Given the description of an element on the screen output the (x, y) to click on. 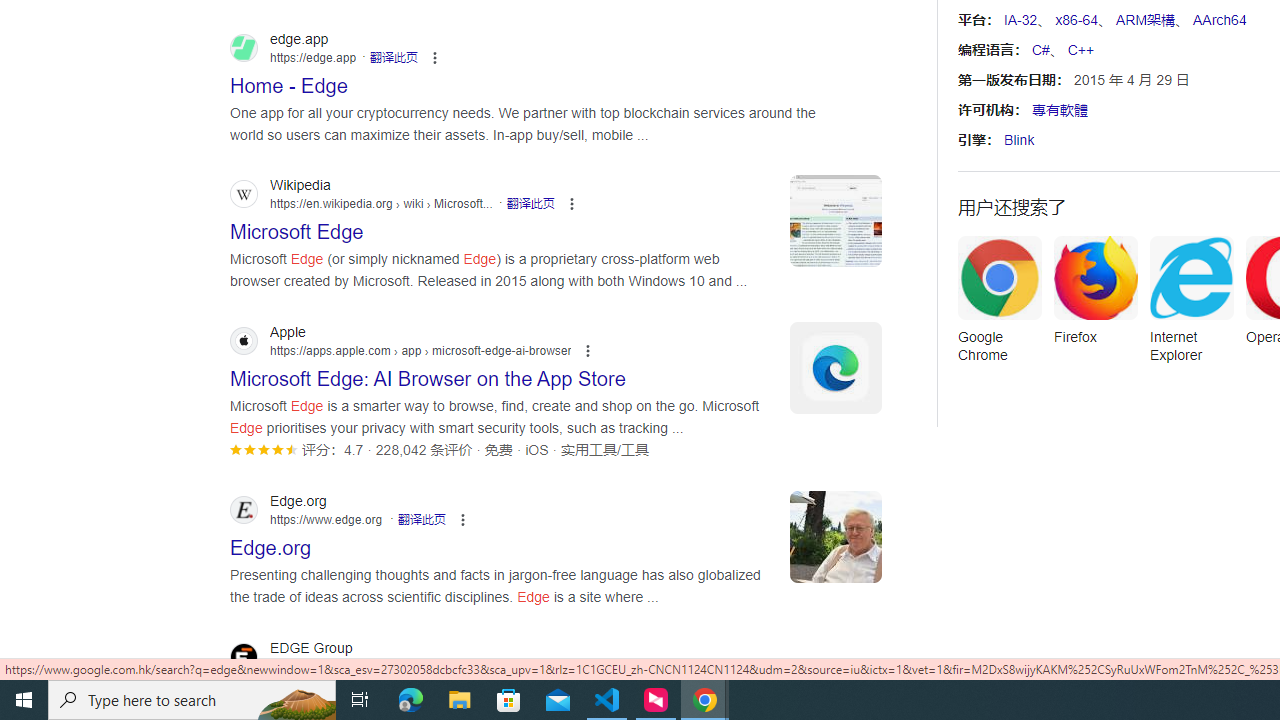
AArch64 (1218, 20)
C++ (1080, 49)
 Home - Edge edge.app https://edge.app (289, 80)
Internet Explorer (1191, 305)
x86-64 (1076, 20)
